Given the description of an element on the screen output the (x, y) to click on. 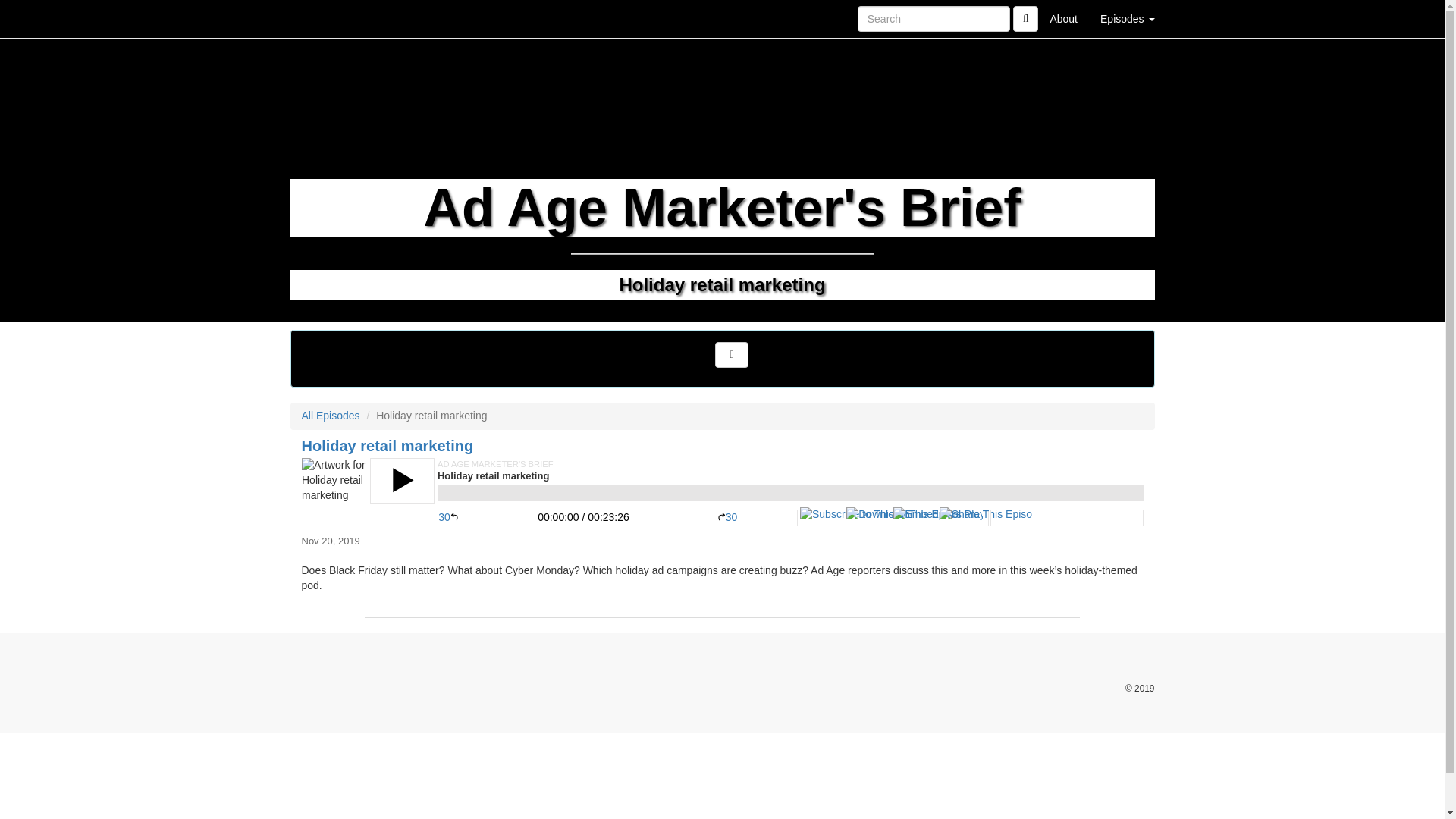
Home Page (320, 18)
Episodes (1127, 18)
About (1063, 18)
Holiday retail marketing (721, 491)
